Given the description of an element on the screen output the (x, y) to click on. 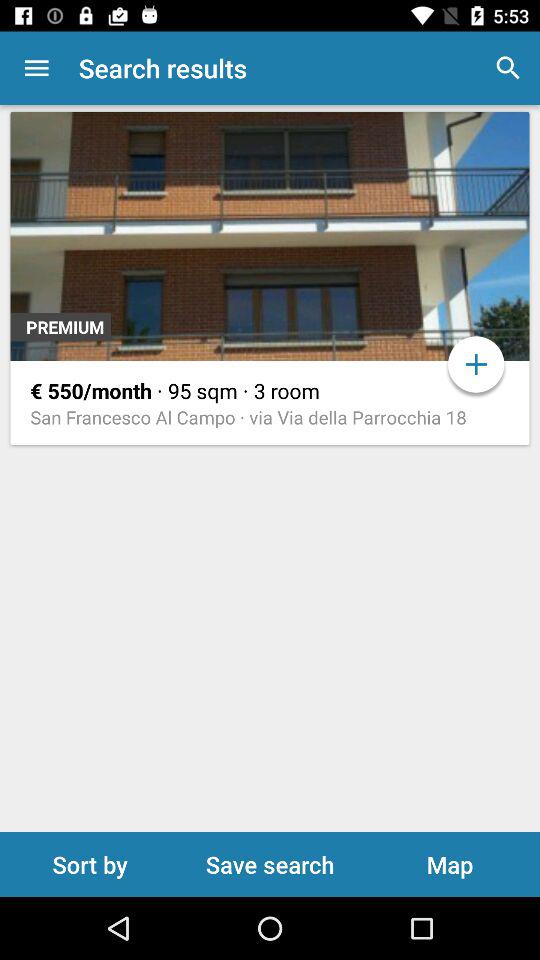
turn on icon next to the map (270, 863)
